Given the description of an element on the screen output the (x, y) to click on. 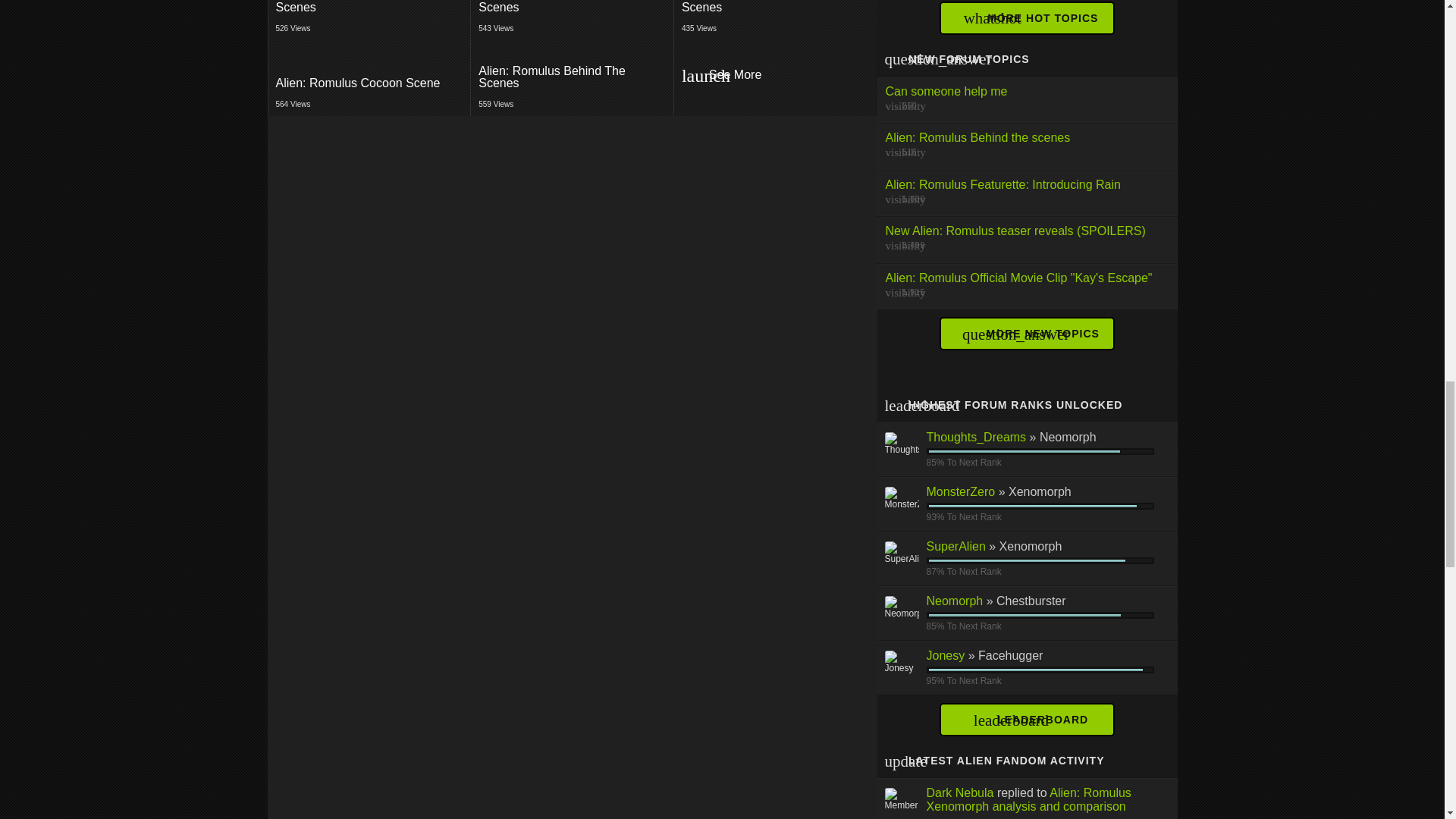
Alien: Romulus Behind The Scenes (572, 10)
See More (774, 20)
See More (775, 75)
See More (774, 78)
Alien: Romulus Behind The Scenes (774, 78)
Alien: Romulus Behind The Scenes (368, 20)
